Given the description of an element on the screen output the (x, y) to click on. 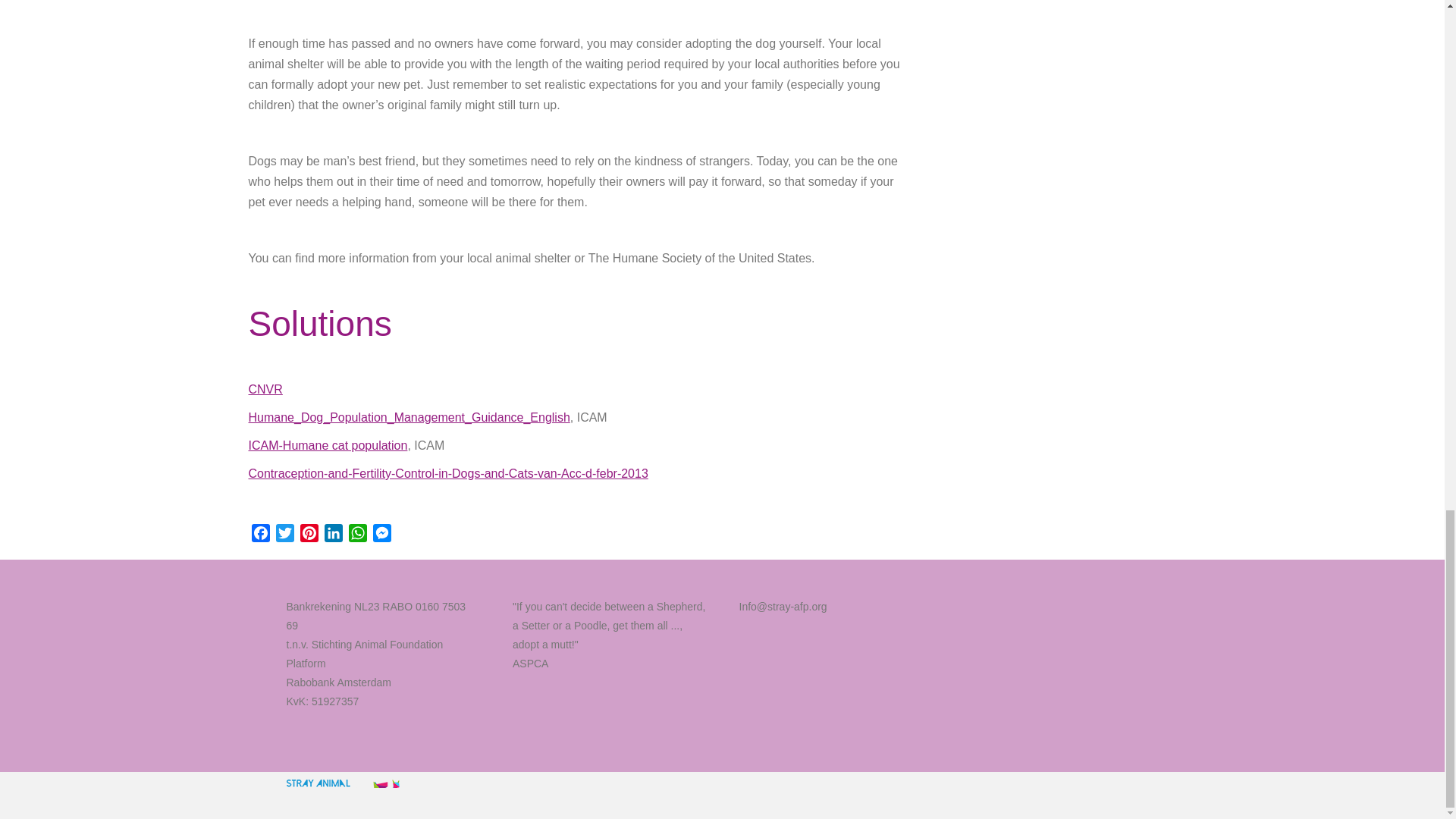
WhatsApp (357, 535)
Messenger (381, 535)
Pinterest (309, 535)
Twitter (285, 535)
Facebook (260, 535)
ICAM-Humane cat population (327, 445)
Messenger (381, 535)
WhatsApp (357, 535)
Twitter (285, 535)
